Given the description of an element on the screen output the (x, y) to click on. 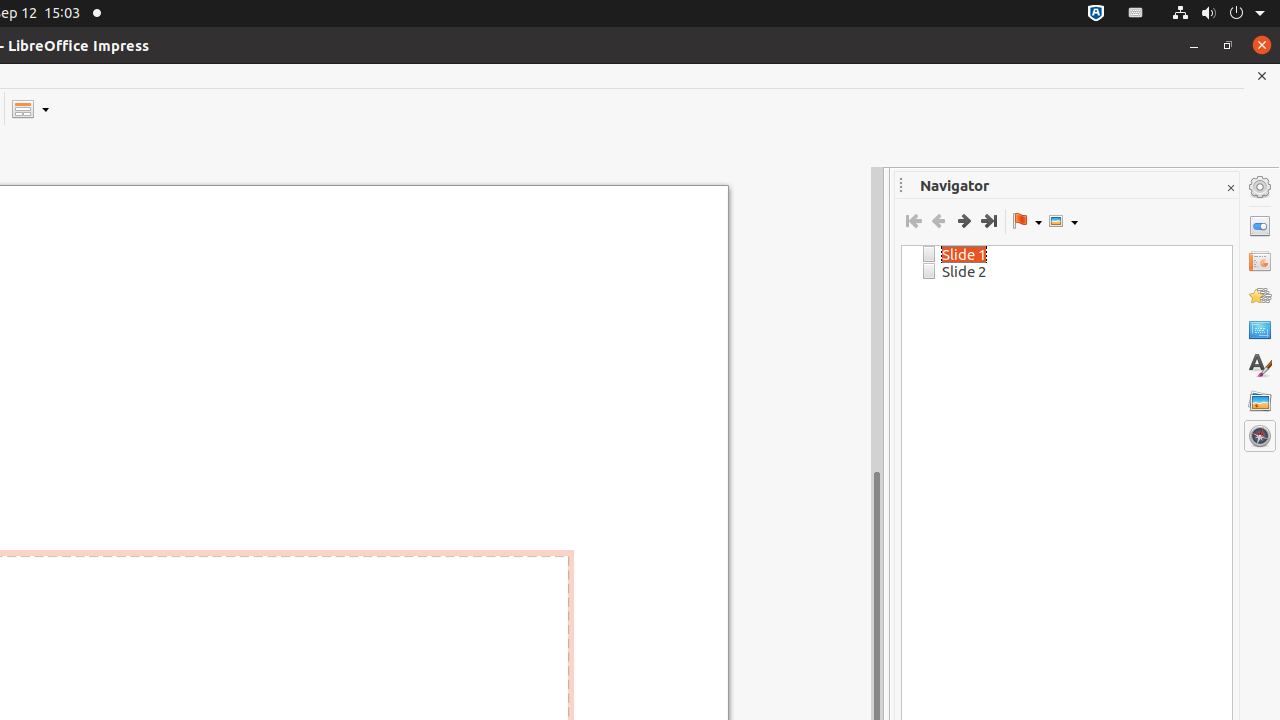
First Slide Element type: push-button (913, 221)
Last Slide Element type: push-button (988, 221)
Previous Slide Element type: push-button (938, 221)
Properties Element type: radio-button (1260, 226)
